Given the description of an element on the screen output the (x, y) to click on. 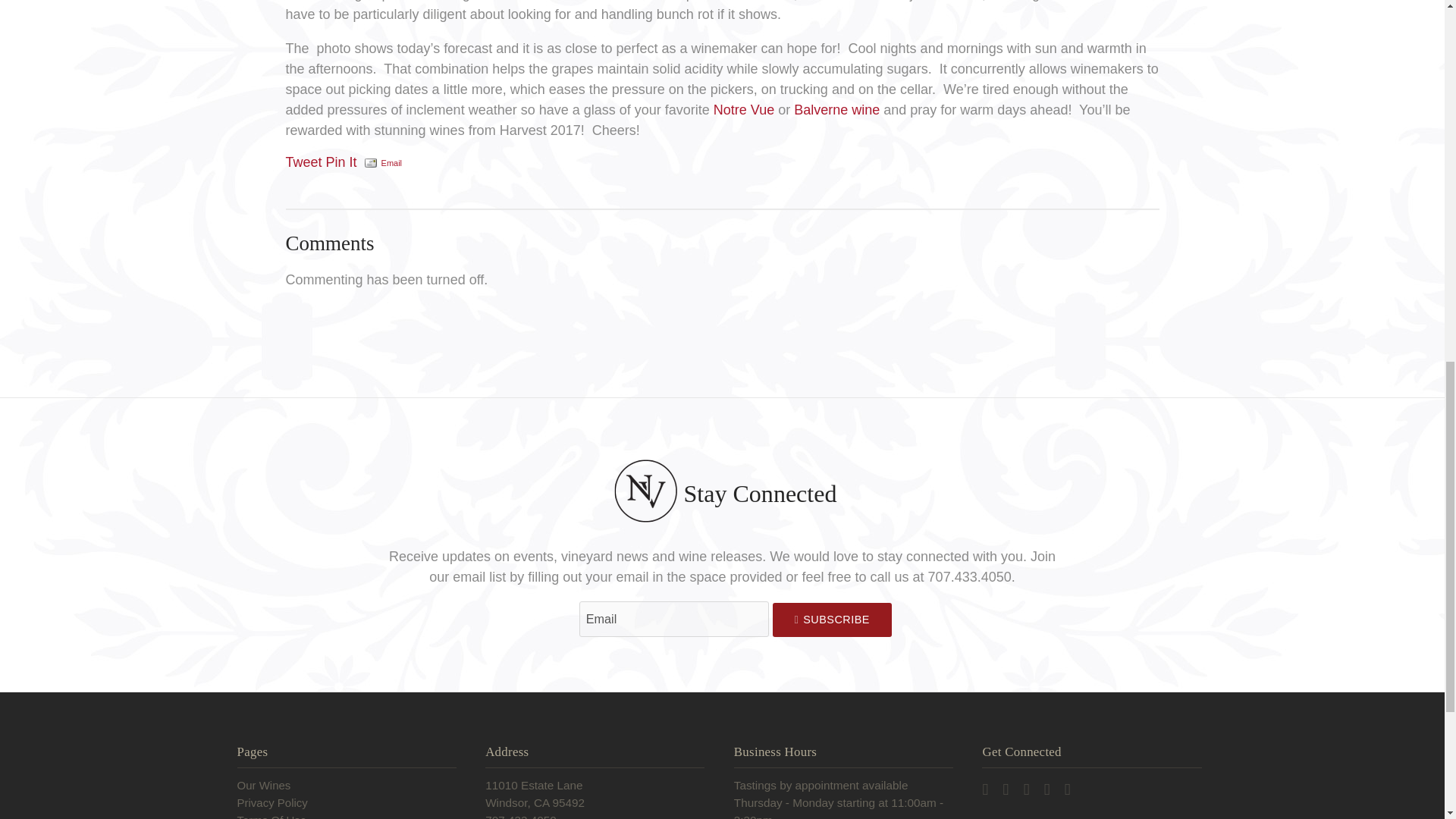
Email (392, 162)
Email (673, 619)
Pin It (341, 161)
Tweet (303, 161)
Balverne wine (836, 109)
Notre Vue (743, 109)
